Given the description of an element on the screen output the (x, y) to click on. 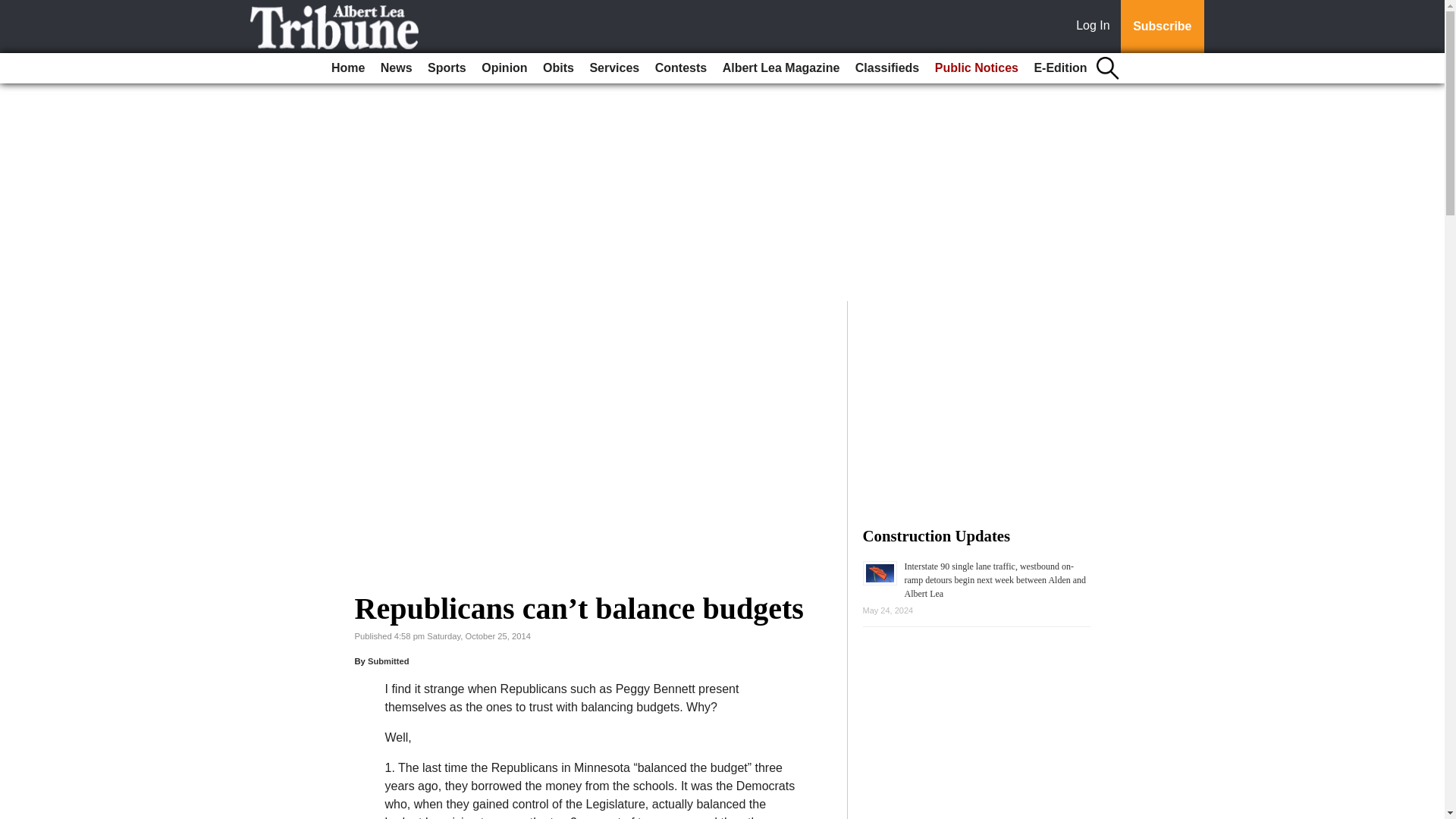
Obits (558, 68)
Services (614, 68)
News (396, 68)
Log In (1095, 26)
Opinion (504, 68)
Sports (446, 68)
Home (347, 68)
Subscribe (1162, 26)
